Given the description of an element on the screen output the (x, y) to click on. 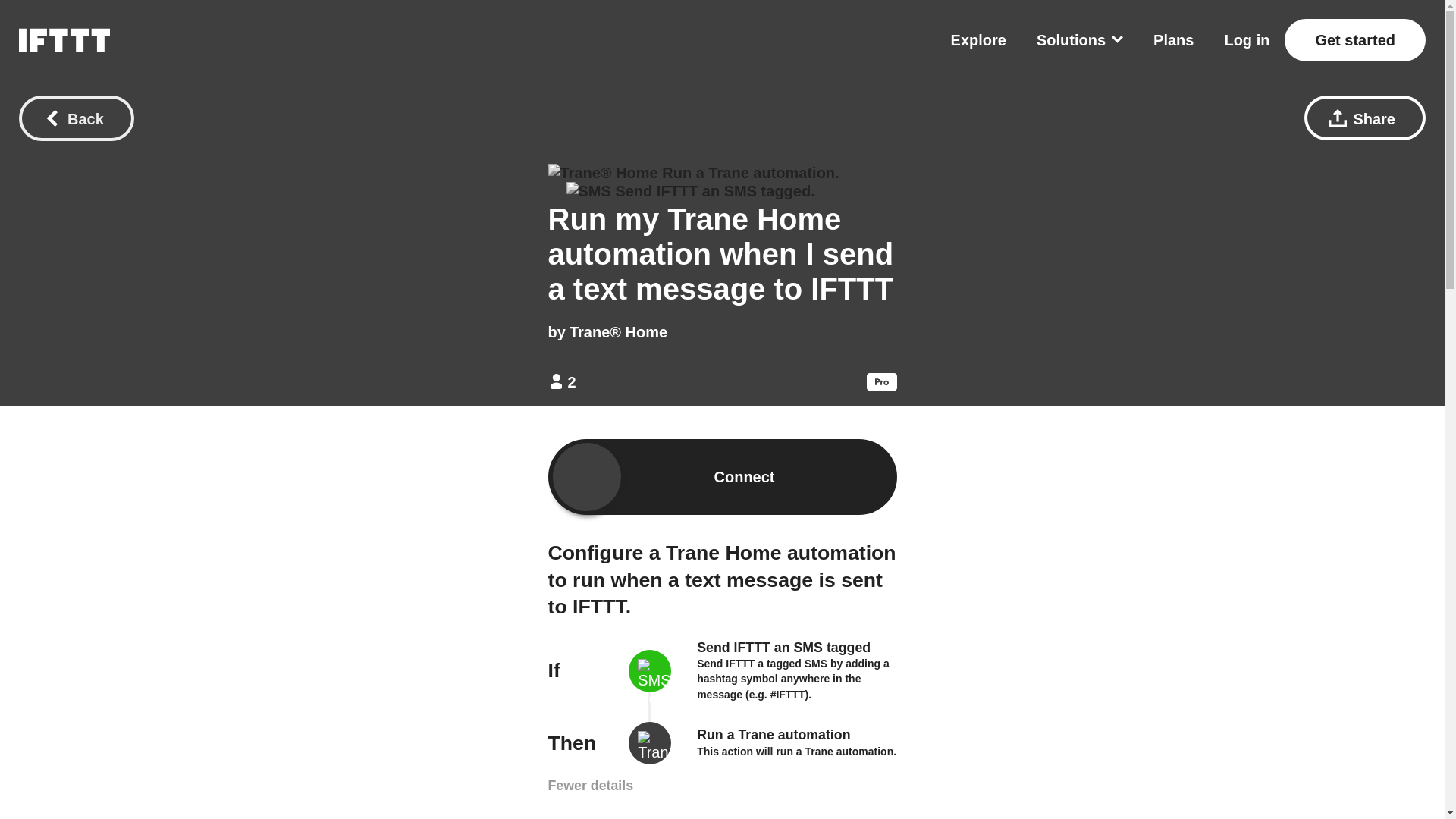
Log in (1246, 39)
Learn more: SMS - Send IFTTT an SMS tagged (793, 679)
Fewer details (590, 785)
Explore (978, 39)
Back (75, 117)
SMS Send IFTTT an SMS tagged. (689, 190)
Send IFTTT an SMS tagged (783, 647)
Run a Trane automation (773, 734)
Share (1364, 117)
Run a Trane automation (773, 734)
